Given the description of an element on the screen output the (x, y) to click on. 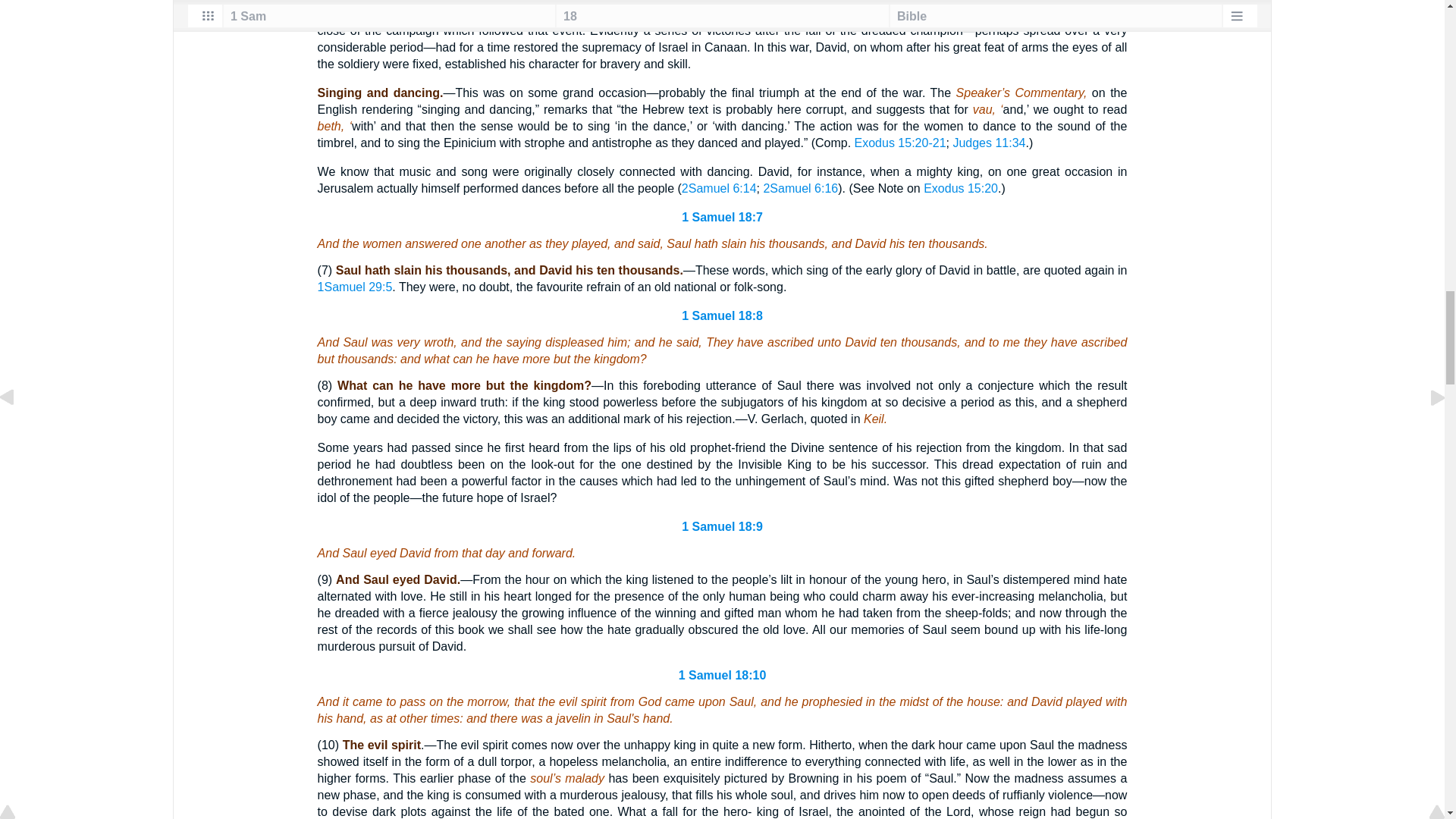
Exodus 15:20 (960, 187)
1 Samuel 18:8 (721, 315)
1 Samuel 18:9 (721, 526)
1Samuel 29:5 (355, 286)
2Samuel 6:16 (800, 187)
1 Samuel 18:7 (721, 216)
